Given the description of an element on the screen output the (x, y) to click on. 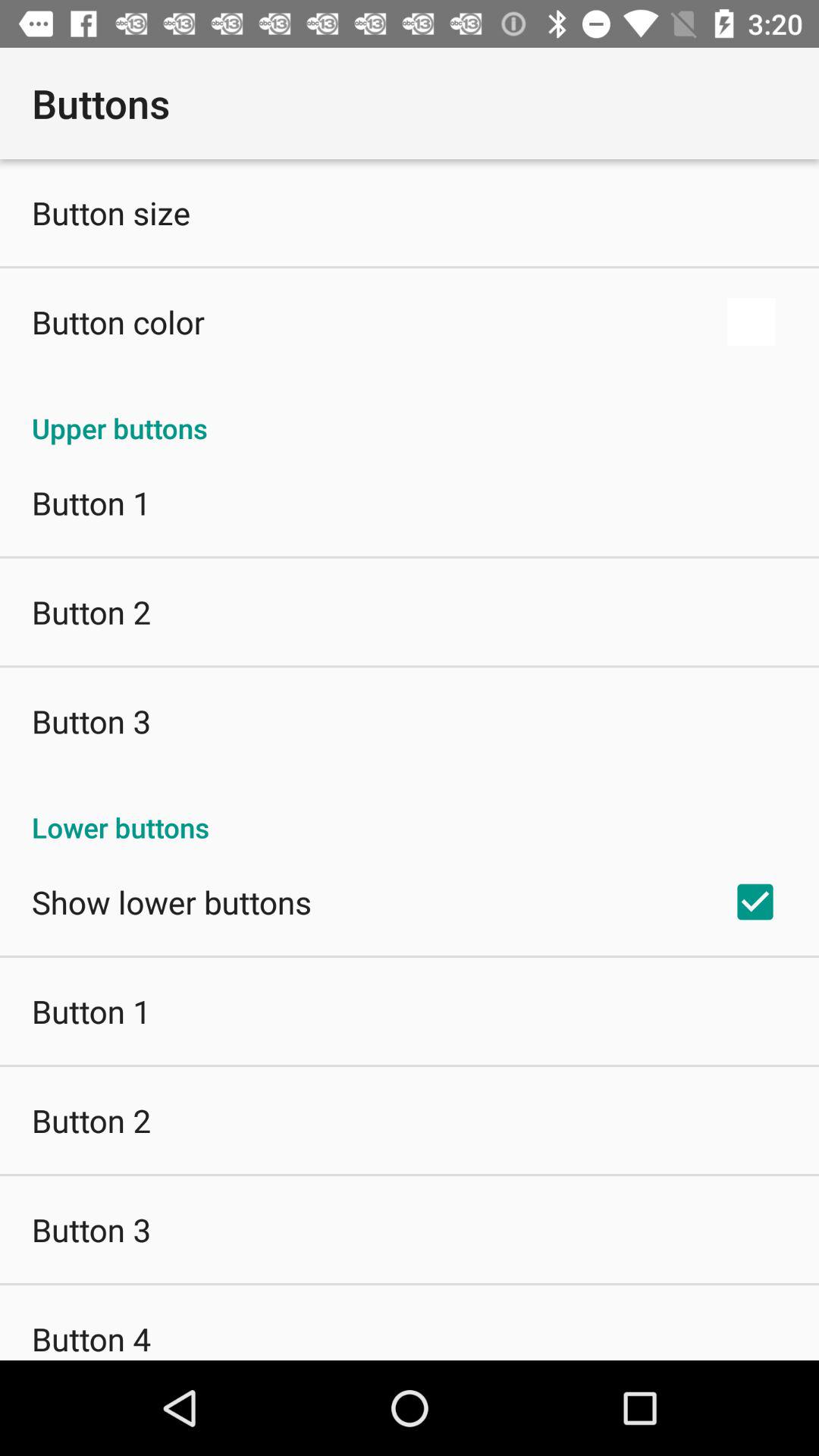
flip to upper buttons (409, 412)
